Given the description of an element on the screen output the (x, y) to click on. 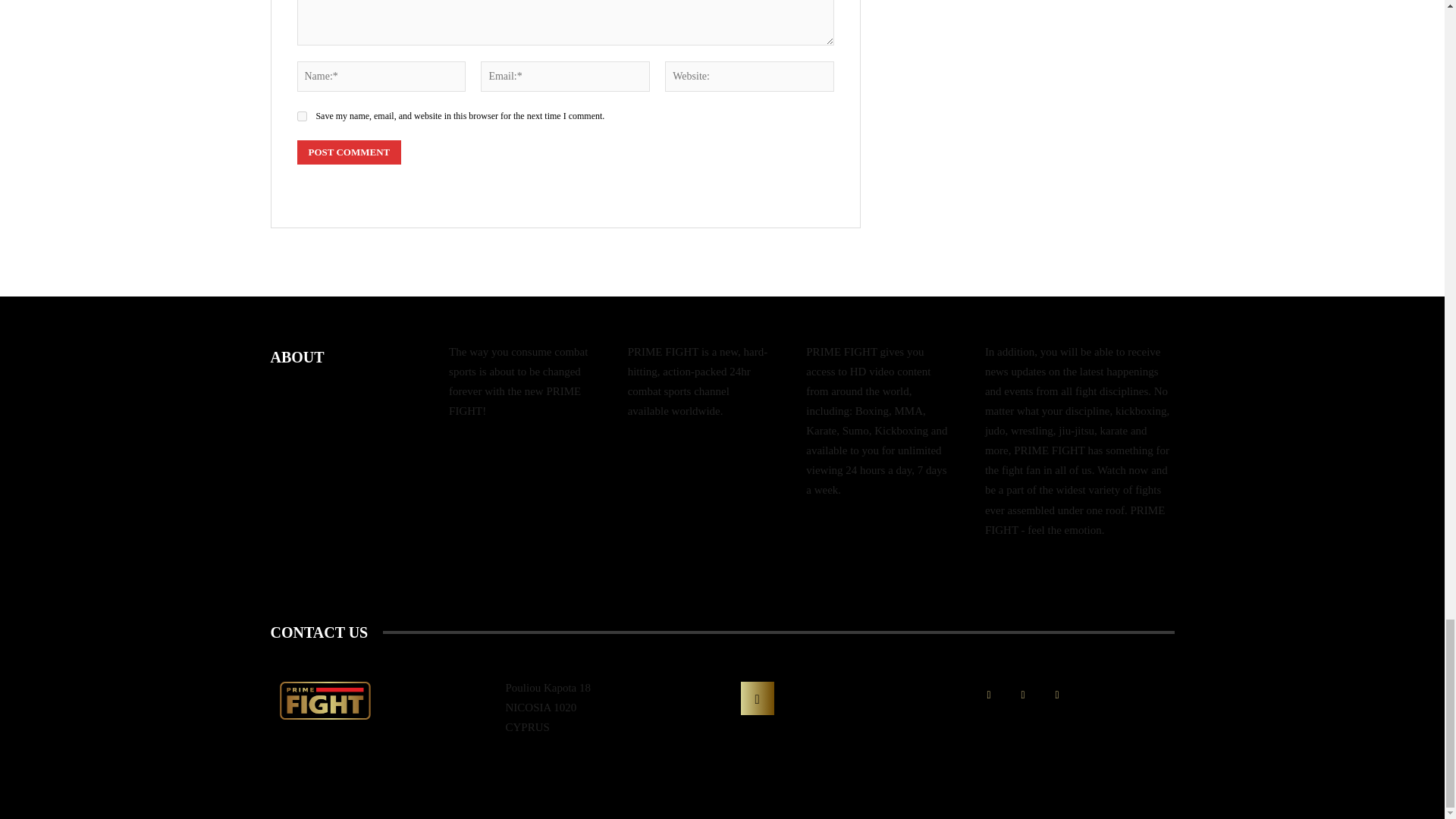
yes (302, 116)
Post Comment (349, 152)
